Given the description of an element on the screen output the (x, y) to click on. 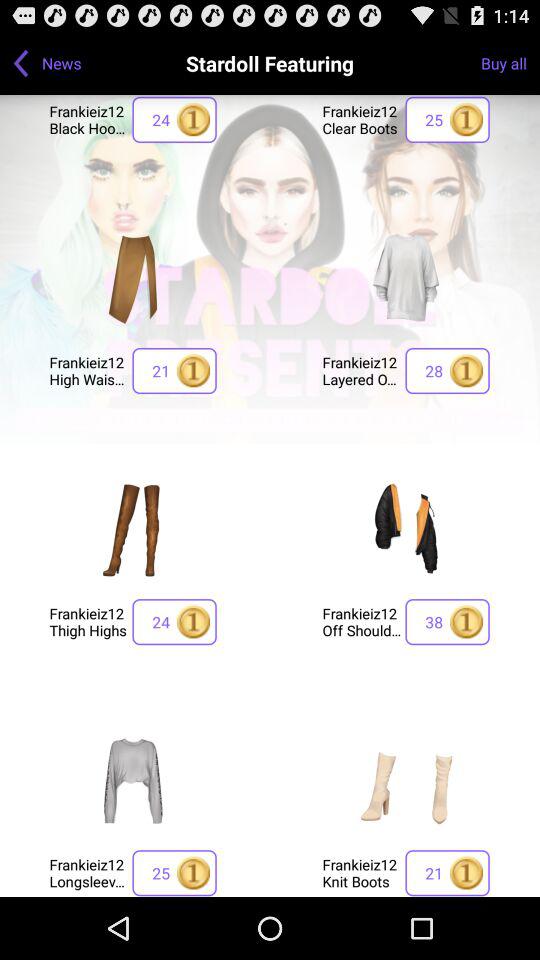
jump until news icon (61, 62)
